Given the description of an element on the screen output the (x, y) to click on. 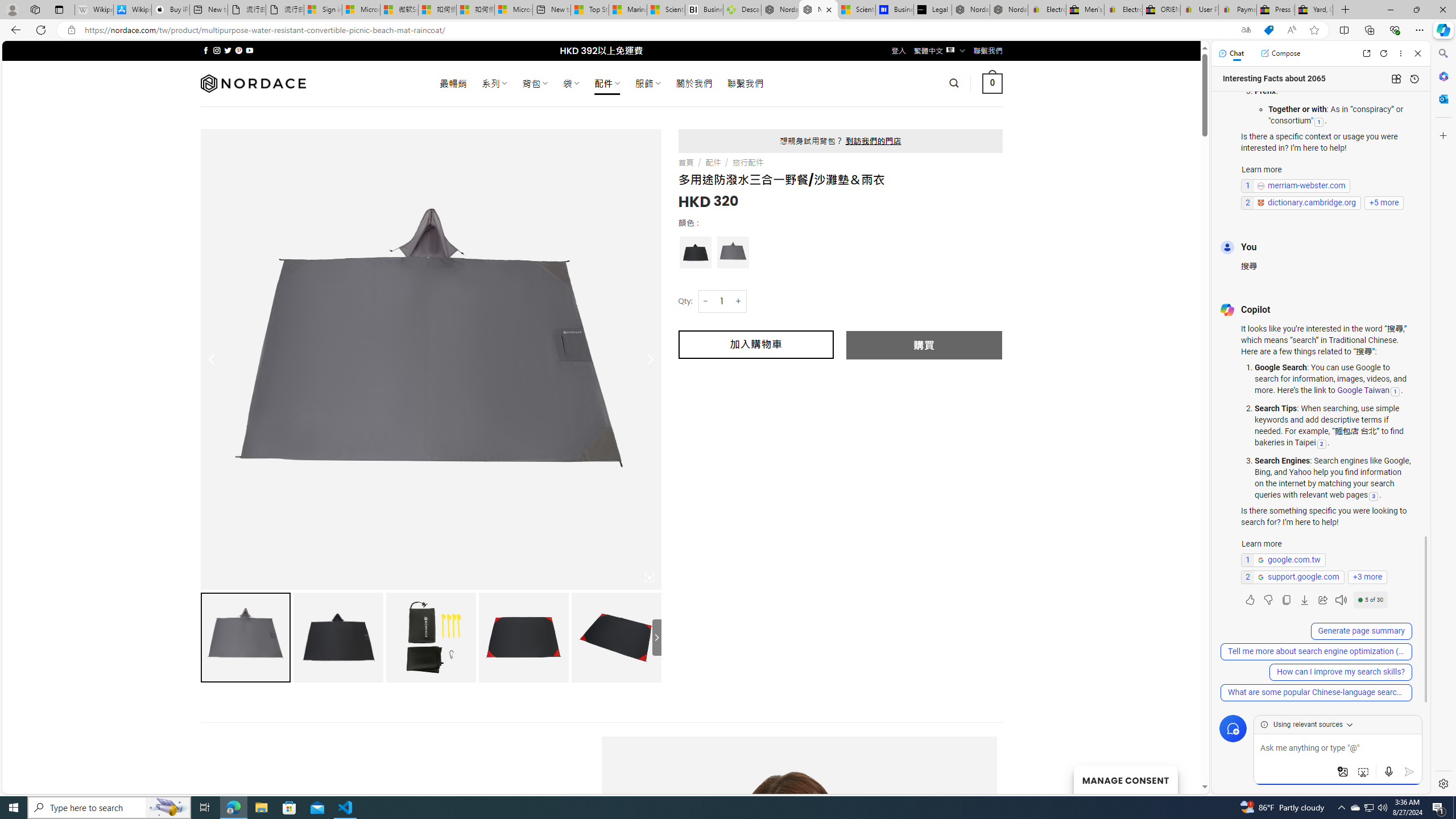
Chat (1231, 52)
+ (738, 300)
Press Room - eBay Inc. (1276, 9)
Marine life - MSN (628, 9)
